Given the description of an element on the screen output the (x, y) to click on. 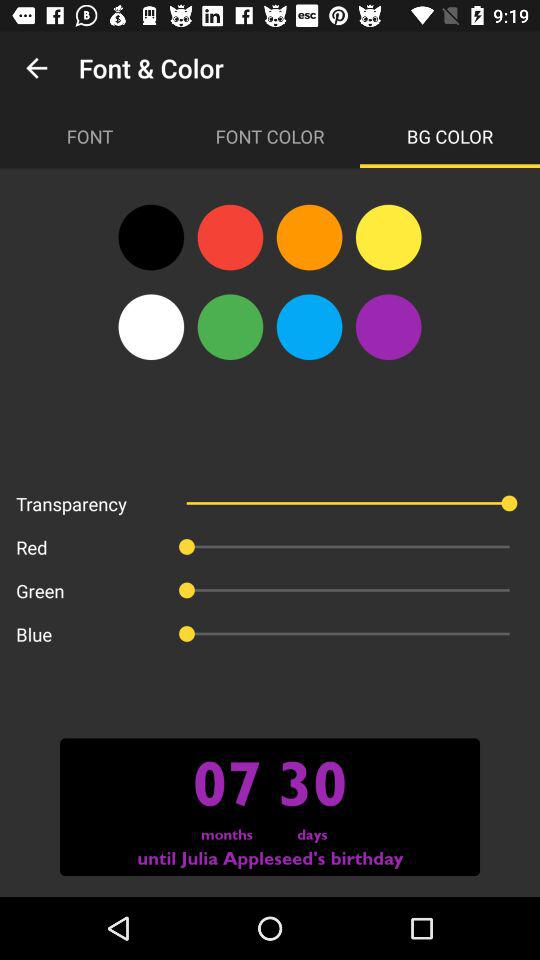
turn off app to the left of font & color icon (36, 68)
